Given the description of an element on the screen output the (x, y) to click on. 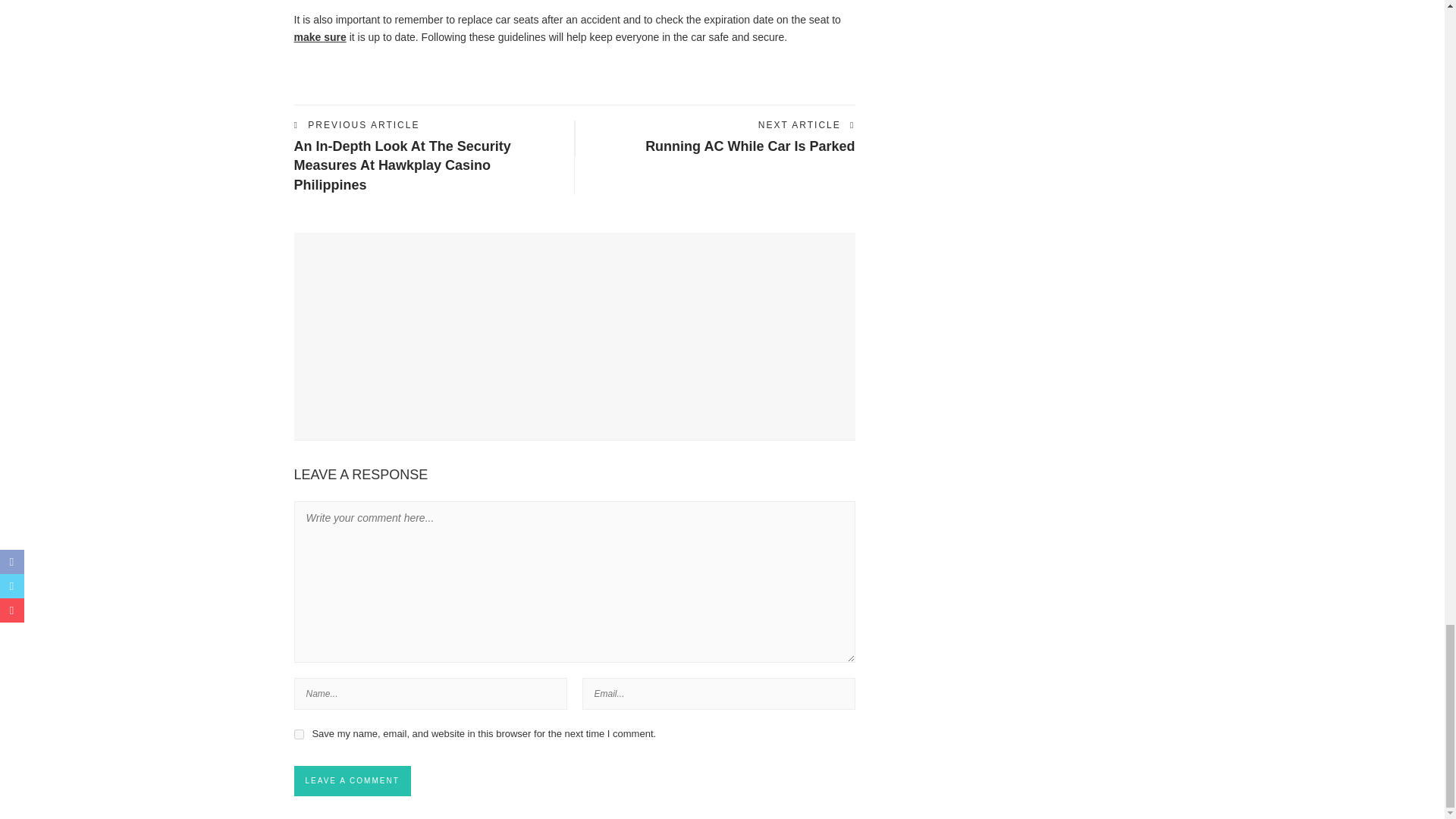
Leave a comment (352, 780)
10 Simple Habits for a Healthier, Happier Life (409, 300)
10 Simple Habits for a Healthier, Happier Life (308, 275)
Running AC While Car Is Parked (749, 145)
yes (299, 734)
